Given the description of an element on the screen output the (x, y) to click on. 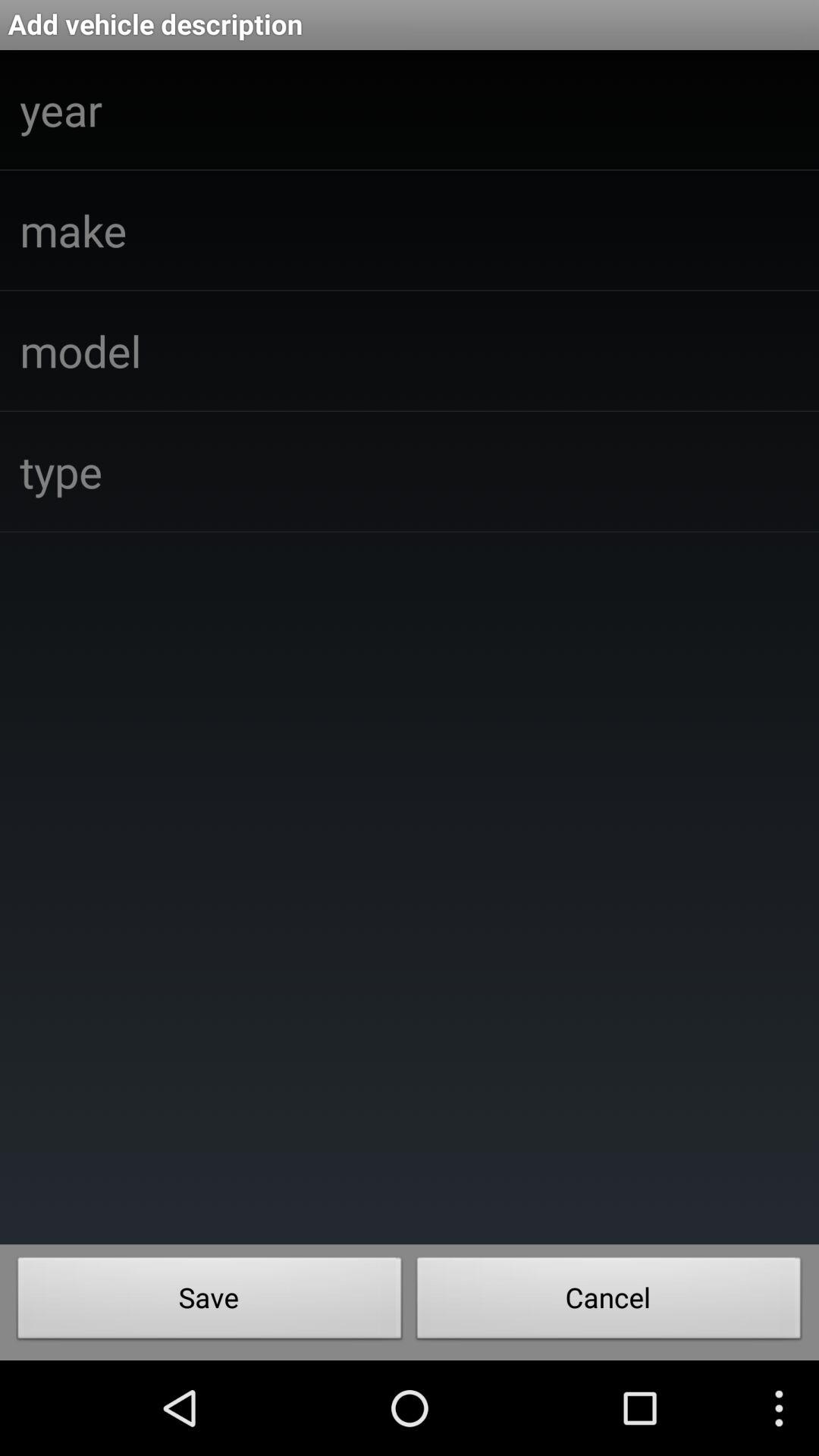
flip to the save item (209, 1302)
